Given the description of an element on the screen output the (x, y) to click on. 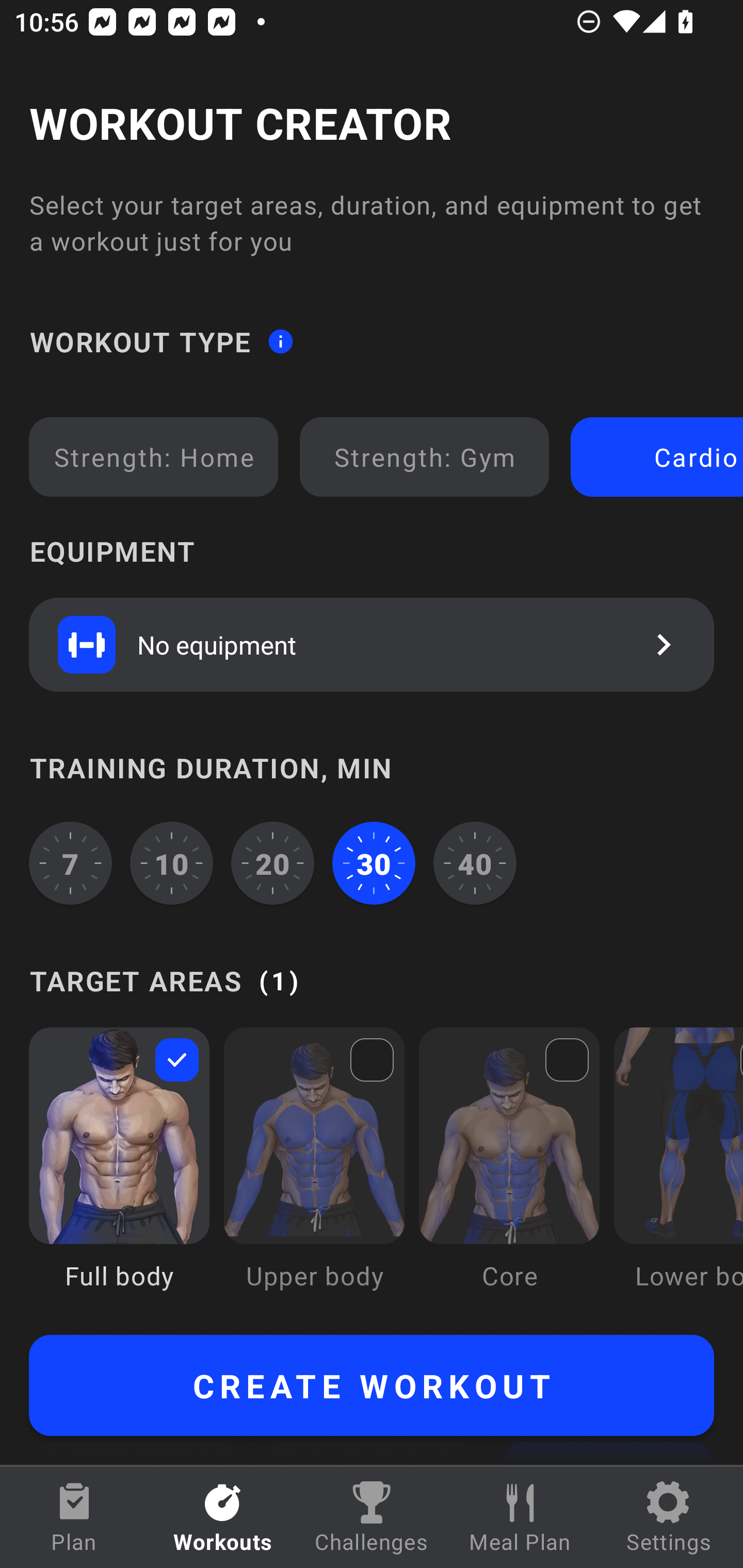
Workout type information button (280, 340)
Strength: Home (153, 457)
Strength: Gym (423, 457)
No equipment (371, 644)
7 (70, 863)
10 (171, 863)
20 (272, 863)
30 (373, 863)
40 (474, 863)
Upper body (313, 1172)
Core (509, 1172)
Lower body (678, 1172)
CREATE WORKOUT (371, 1385)
 Plan  (74, 1517)
 Challenges  (371, 1517)
 Meal Plan  (519, 1517)
 Settings  (668, 1517)
